Given the description of an element on the screen output the (x, y) to click on. 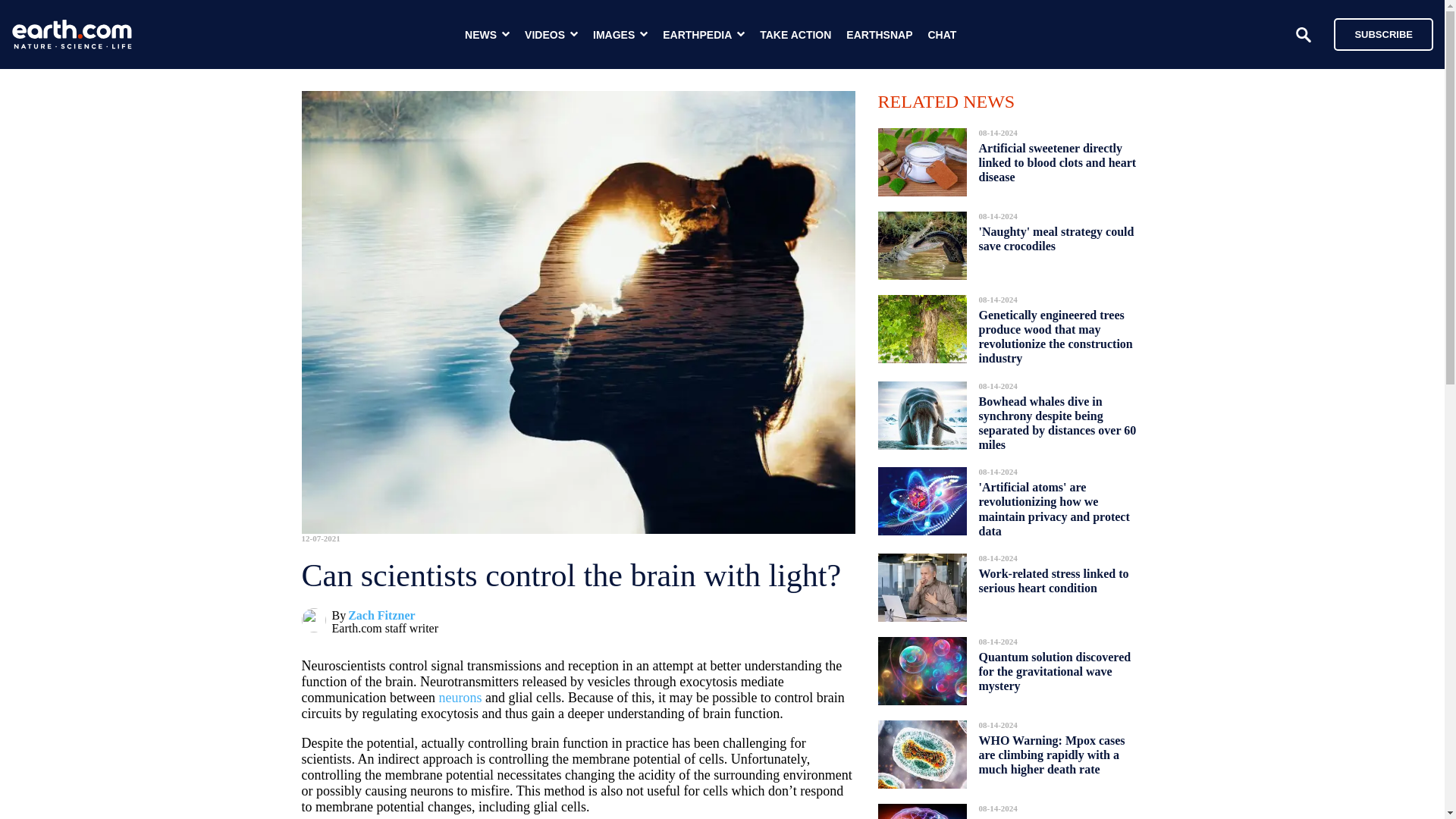
neurons (459, 697)
Work-related stress linked to serious heart condition (1053, 580)
Zach Fitzner (380, 615)
CHAT (941, 34)
TAKE ACTION (795, 34)
SUBSCRIBE (1375, 33)
